Given the description of an element on the screen output the (x, y) to click on. 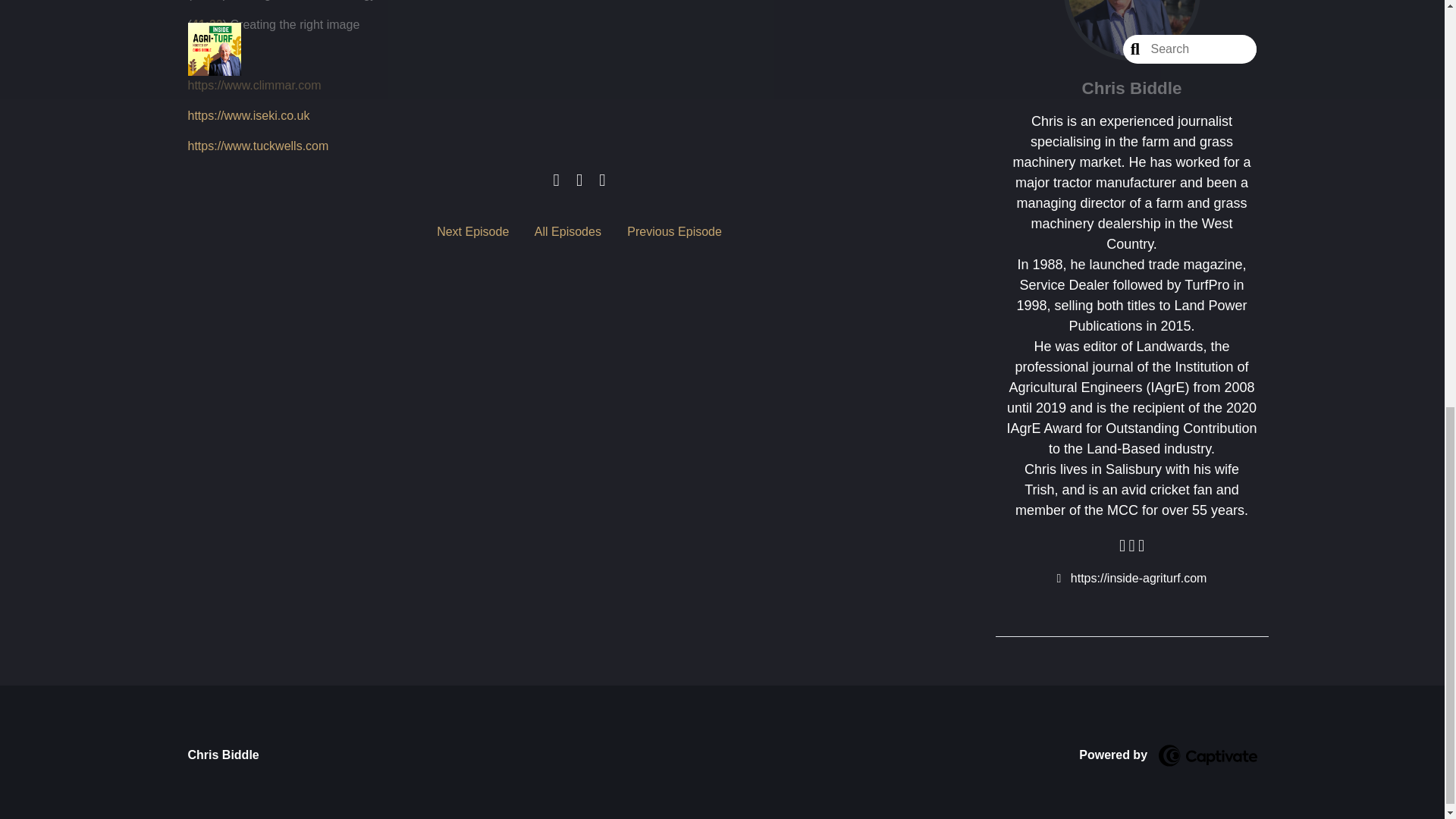
41:32 (207, 24)
All Episodes (567, 231)
Next Episode (472, 231)
Previous Episode (674, 231)
